Given the description of an element on the screen output the (x, y) to click on. 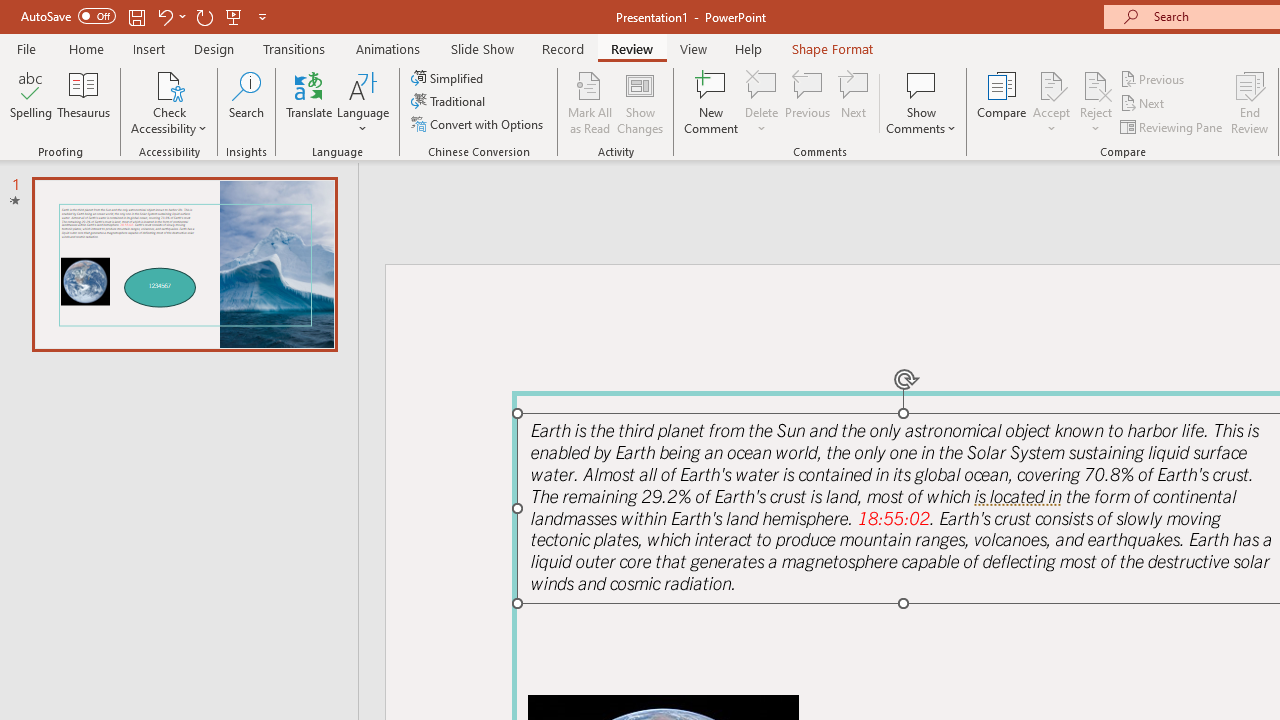
Next (1144, 103)
New Comment (711, 102)
Show Comments (921, 84)
Compare (1002, 102)
Mark All as Read (589, 102)
Language (363, 102)
Delete (762, 102)
